Given the description of an element on the screen output the (x, y) to click on. 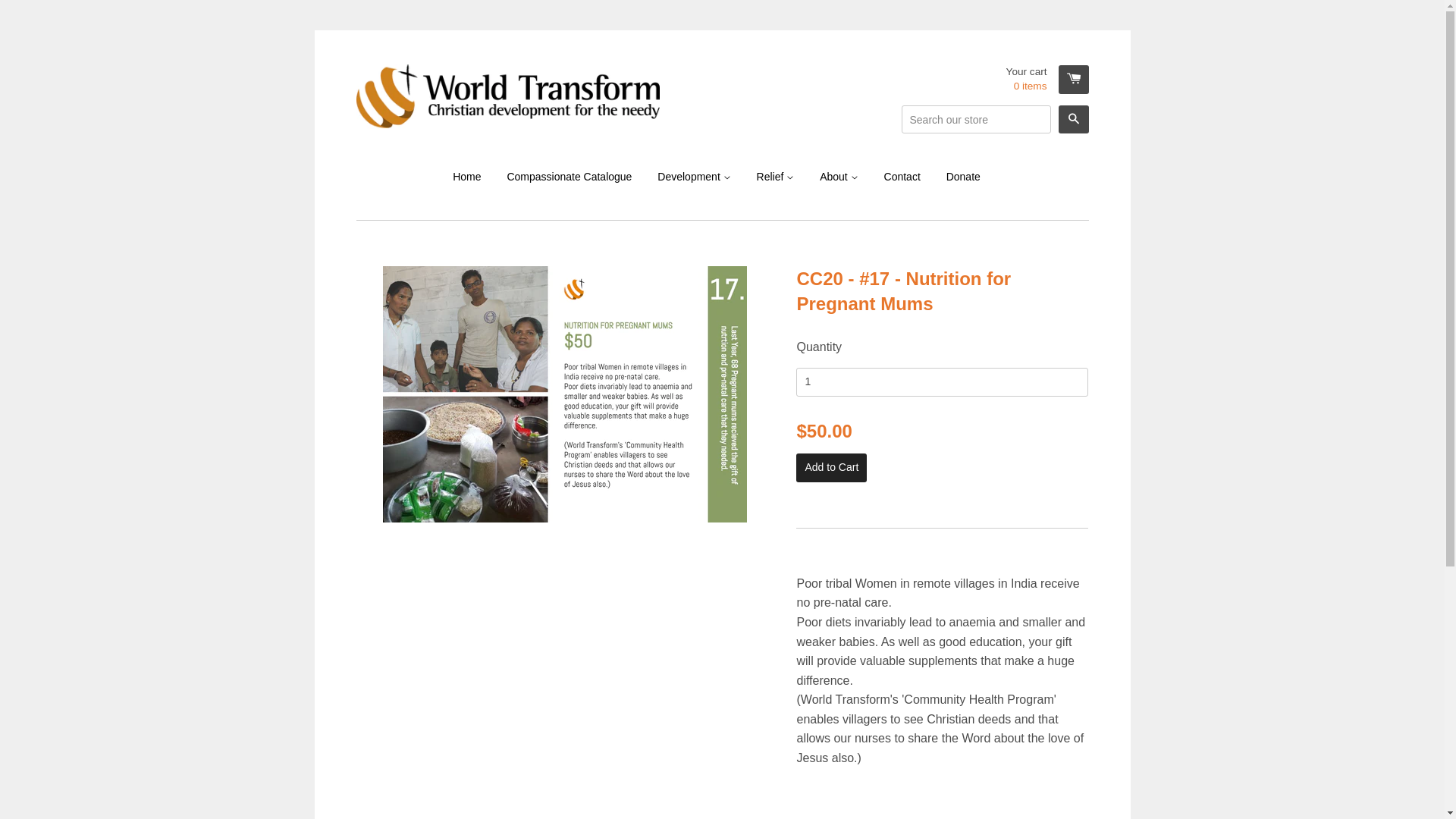
Add to Cart Element type: text (831, 467)
Your cart
0 items Element type: text (1047, 79)
Development Element type: text (693, 176)
Compassionate Catalogue Element type: text (569, 176)
Contact Element type: text (901, 176)
Relief Element type: text (775, 176)
Donate Element type: text (963, 176)
About Element type: text (838, 176)
Search Element type: text (1073, 119)
Home Element type: text (472, 176)
